Given the description of an element on the screen output the (x, y) to click on. 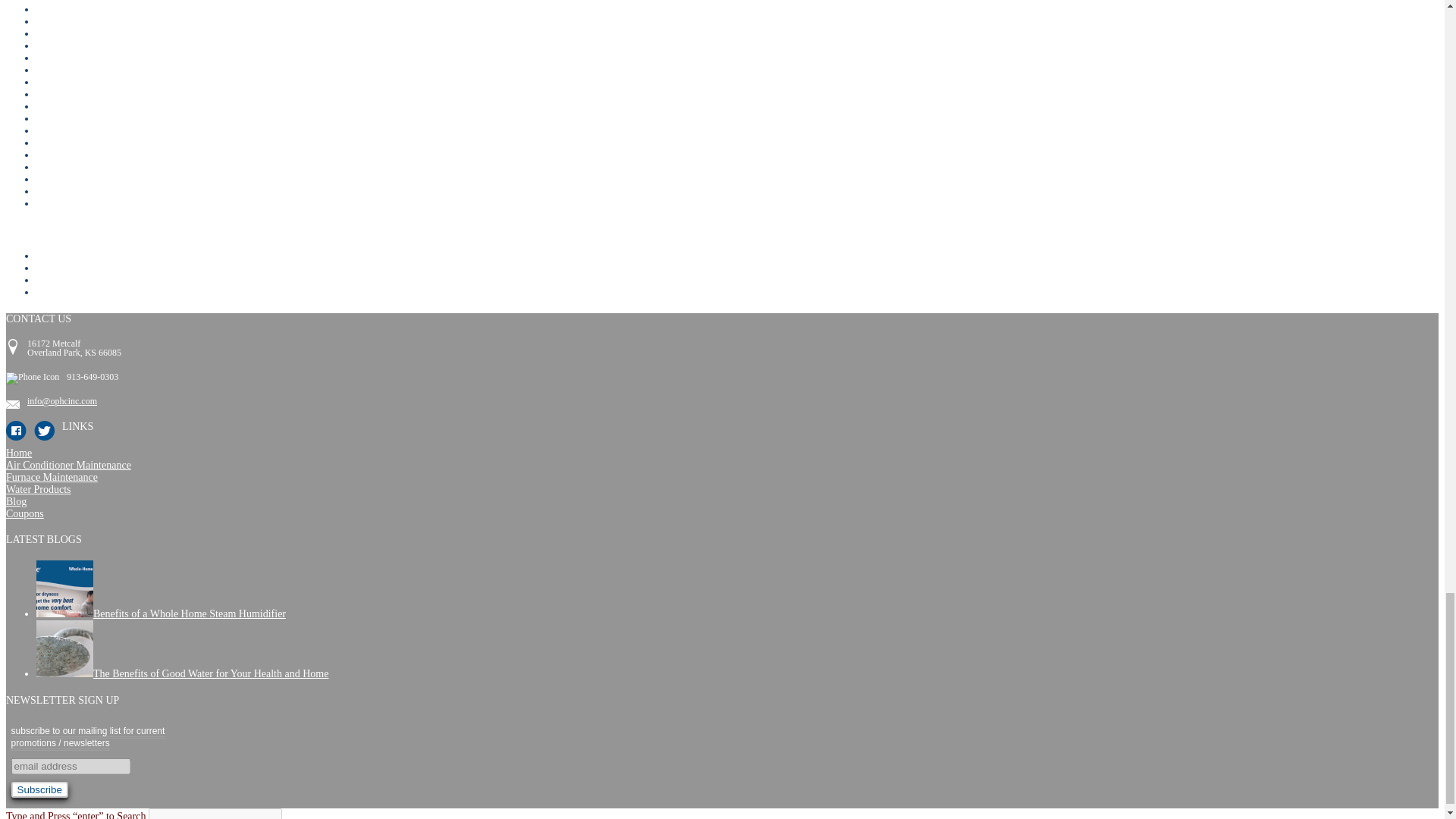
Subscribe (39, 789)
